Given the description of an element on the screen output the (x, y) to click on. 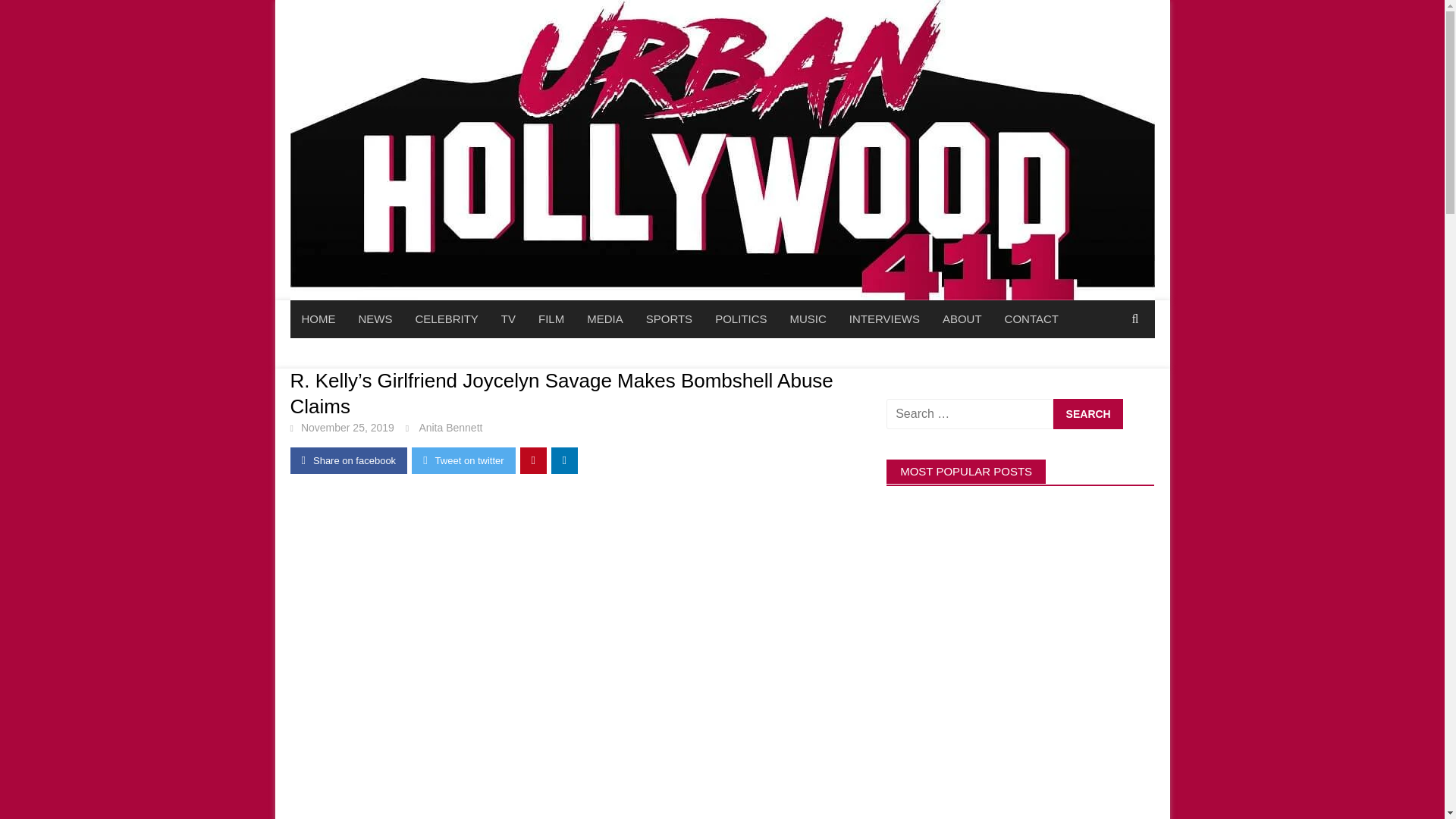
Share on facebook (348, 460)
Anita Bennett (450, 427)
FILM (551, 319)
NEWS (375, 319)
ABOUT (961, 319)
Search (1087, 413)
November 25, 2019 (347, 427)
TV (508, 319)
POLITICS (740, 319)
CONTACT (1031, 319)
HOME (317, 319)
CELEBRITY (446, 319)
MUSIC (807, 319)
MEDIA (604, 319)
INTERVIEWS (884, 319)
